Given the description of an element on the screen output the (x, y) to click on. 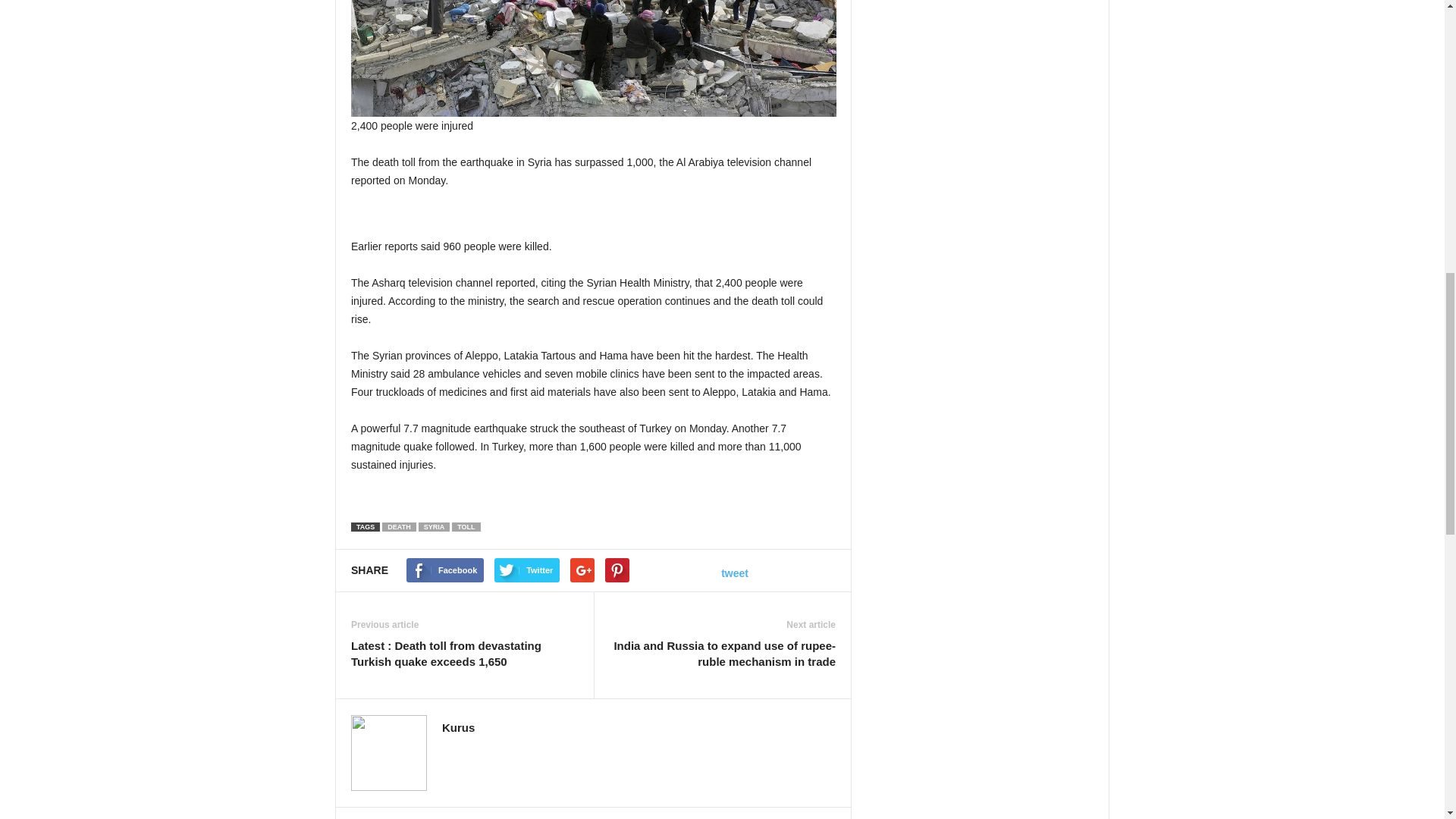
TOLL (465, 526)
DEATH (397, 526)
SYRIA (434, 526)
